Given the description of an element on the screen output the (x, y) to click on. 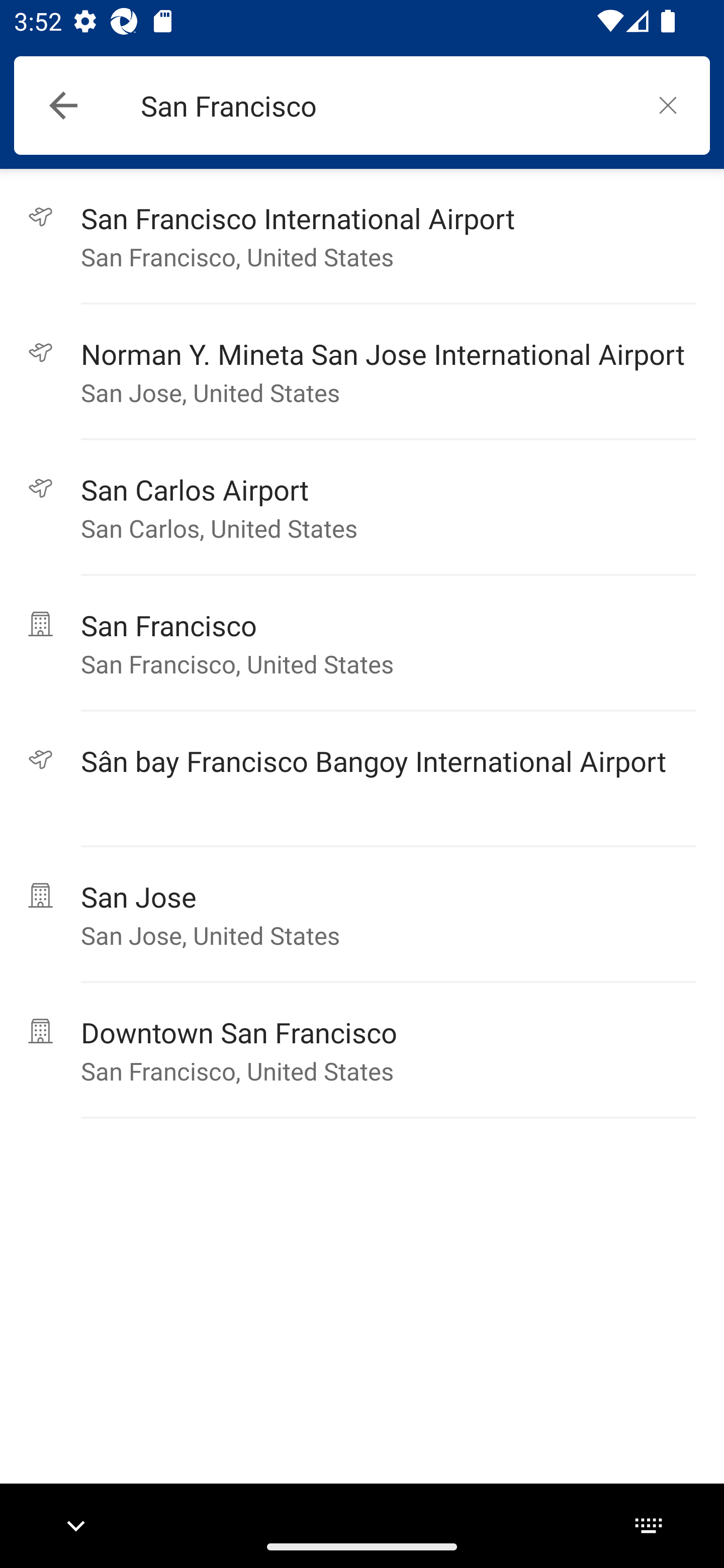
Navigate up (62, 105)
놕 (667, 104)
San Francisco (382, 105)
끭 San Carlos Airport San Carlos, United States (362, 507)
넭 San Francisco San Francisco, United States (362, 643)
끭 Sân bay Francisco Bangoy International Airport (362, 778)
넭 San Jose San Jose, United States (362, 914)
